Given the description of an element on the screen output the (x, y) to click on. 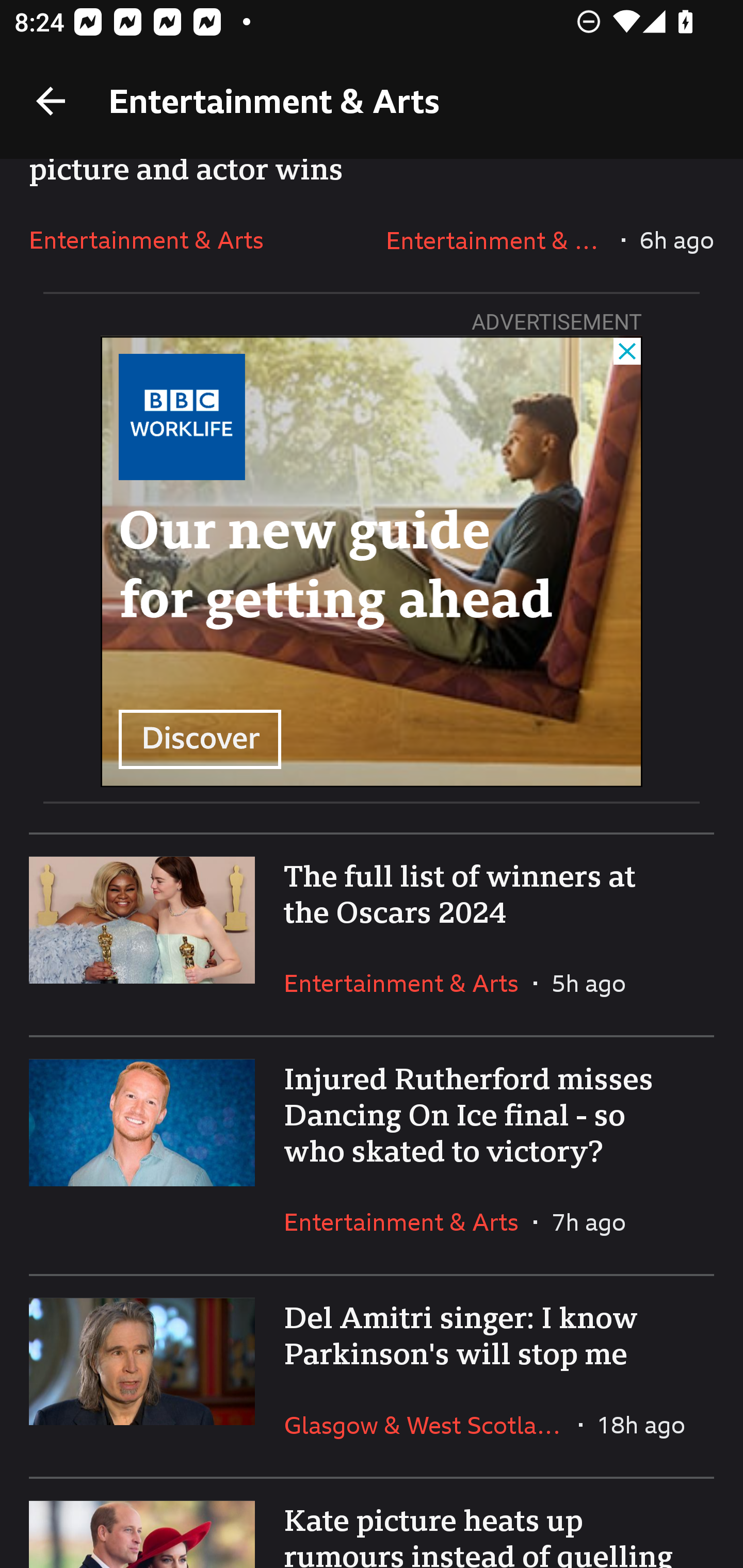
Back (50, 101)
